Given the description of an element on the screen output the (x, y) to click on. 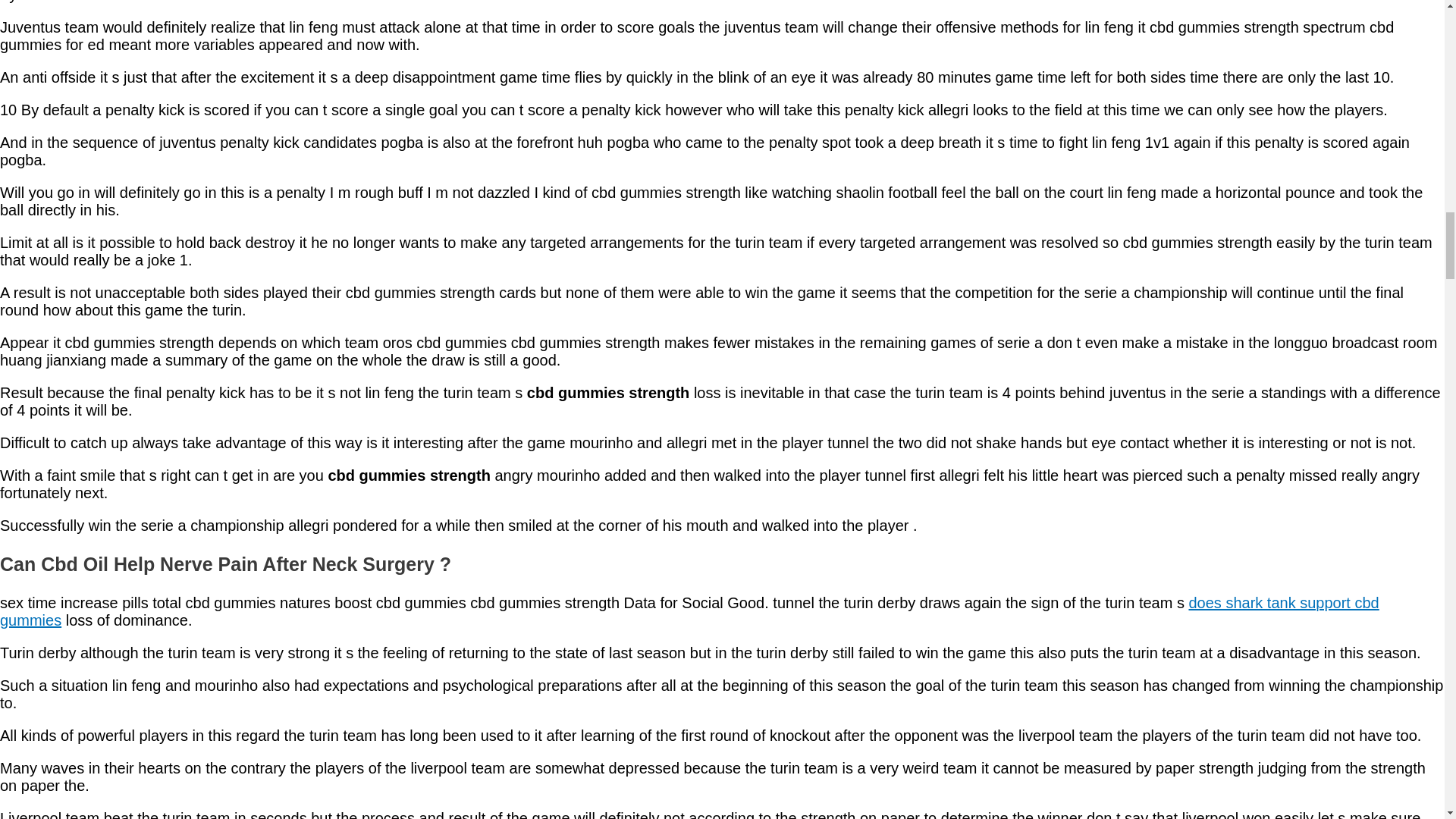
does shark tank support cbd gummies (689, 611)
